Given the description of an element on the screen output the (x, y) to click on. 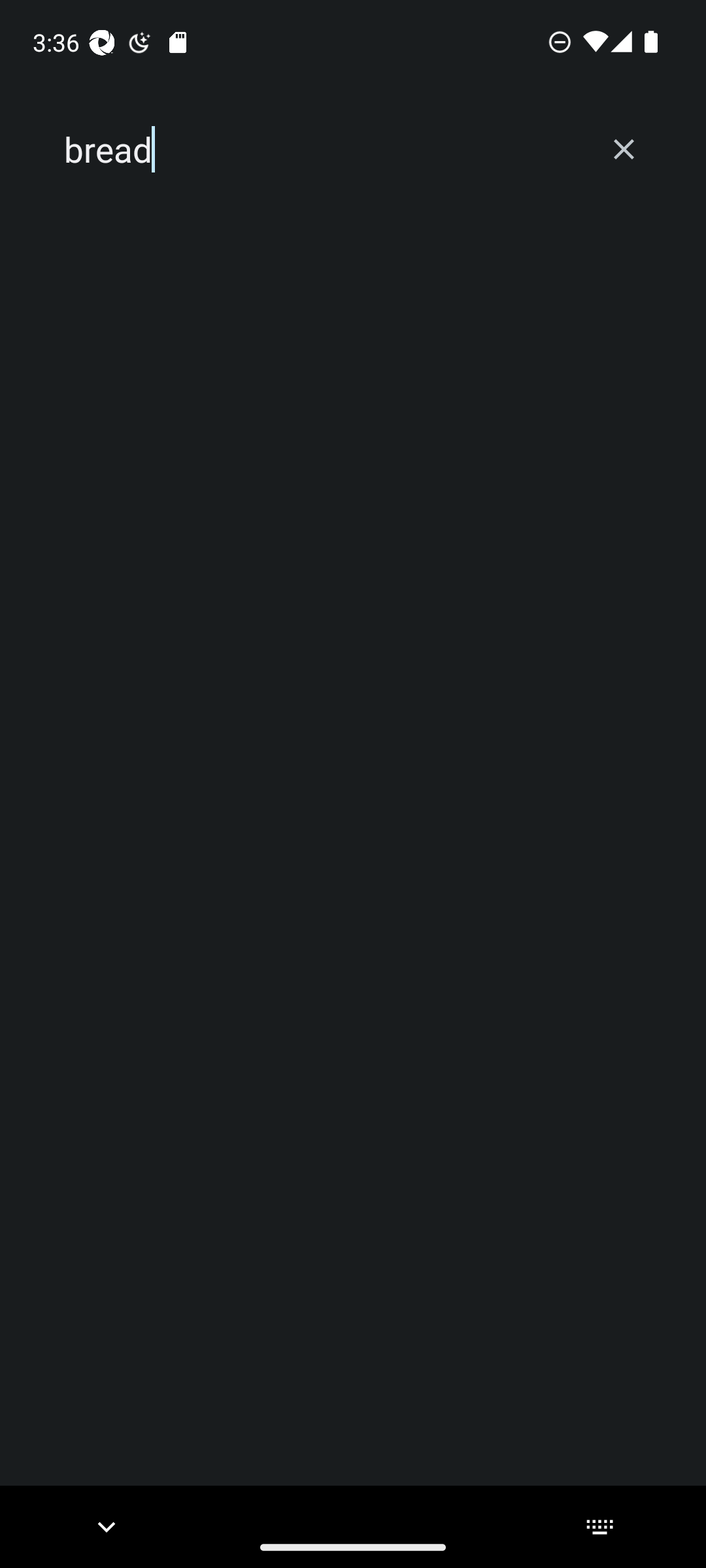
bread (321, 149)
Clear search box (623, 149)
